Given the description of an element on the screen output the (x, y) to click on. 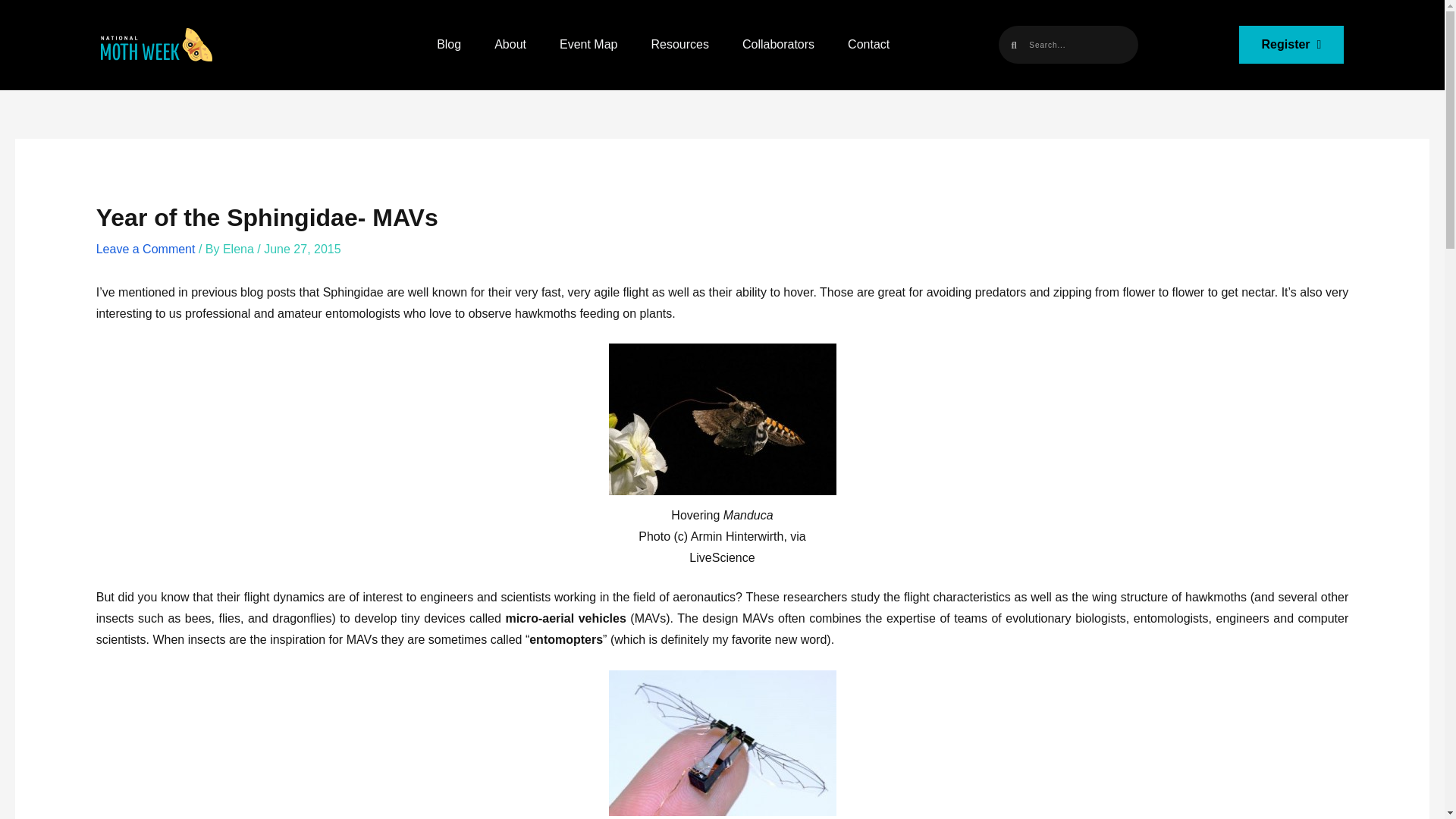
View all posts by Elena (239, 248)
Register (1291, 44)
Event Map (588, 44)
Blog (448, 44)
Collaborators (777, 44)
Leave a Comment (145, 248)
About (510, 44)
Contact (869, 44)
Resources (679, 44)
